Given the description of an element on the screen output the (x, y) to click on. 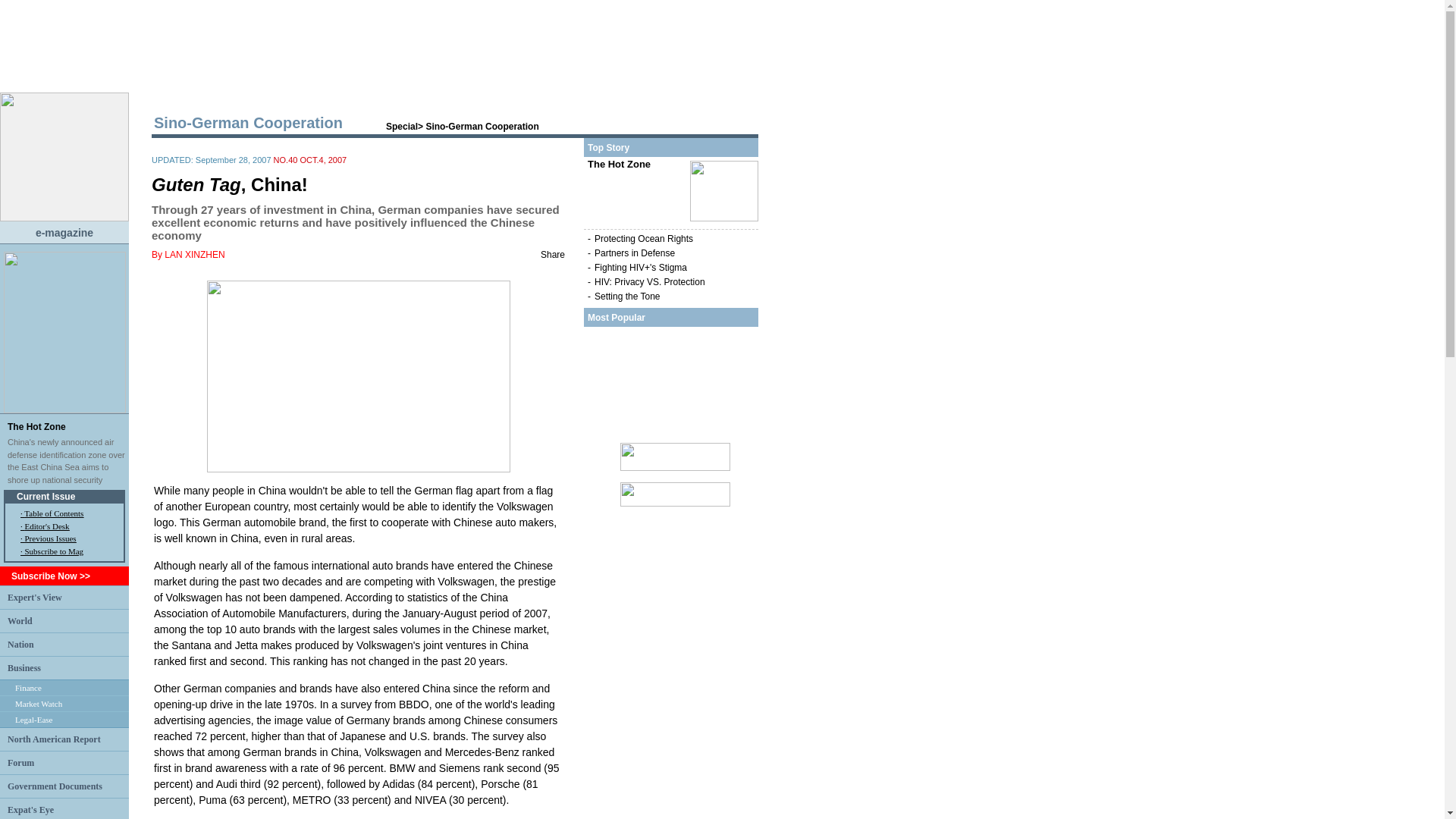
Editor's Desk (46, 525)
Nation (20, 643)
The Hot Zone (36, 426)
Previous Issues (49, 537)
Business (23, 667)
e-magazine (63, 232)
Expat's Eye (30, 808)
Forum (20, 761)
Government Documents (54, 786)
